Given the description of an element on the screen output the (x, y) to click on. 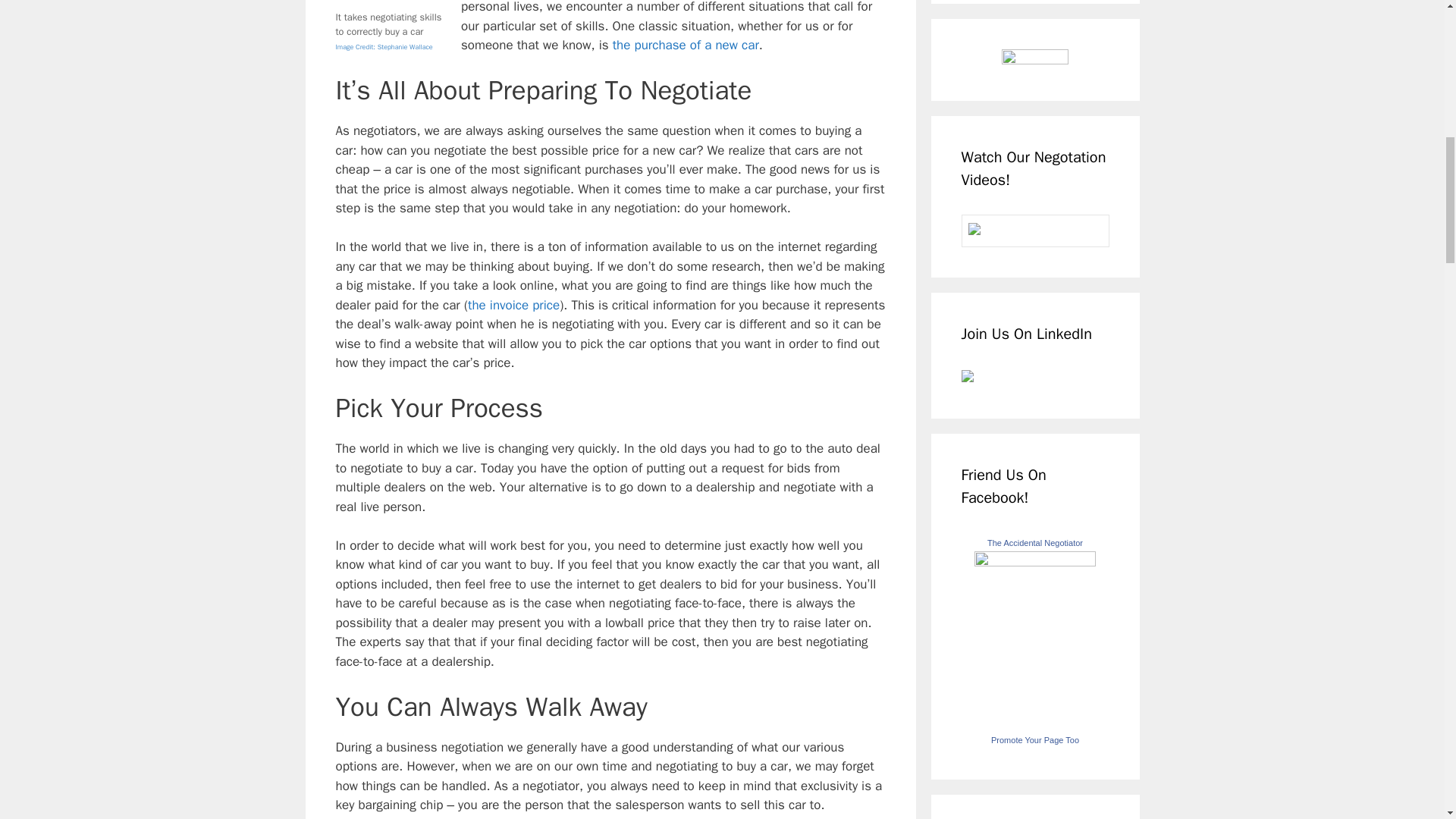
The Accidental Negotiator (1035, 542)
The Accidental Negotiator (1035, 562)
Image Credit: Stephanie Wallace (383, 46)
Make your own badge! (1034, 739)
the invoice price (513, 304)
the purchase of a new car (685, 44)
How To Negotiate To Buy A Car in 2010 (685, 44)
